Given the description of an element on the screen output the (x, y) to click on. 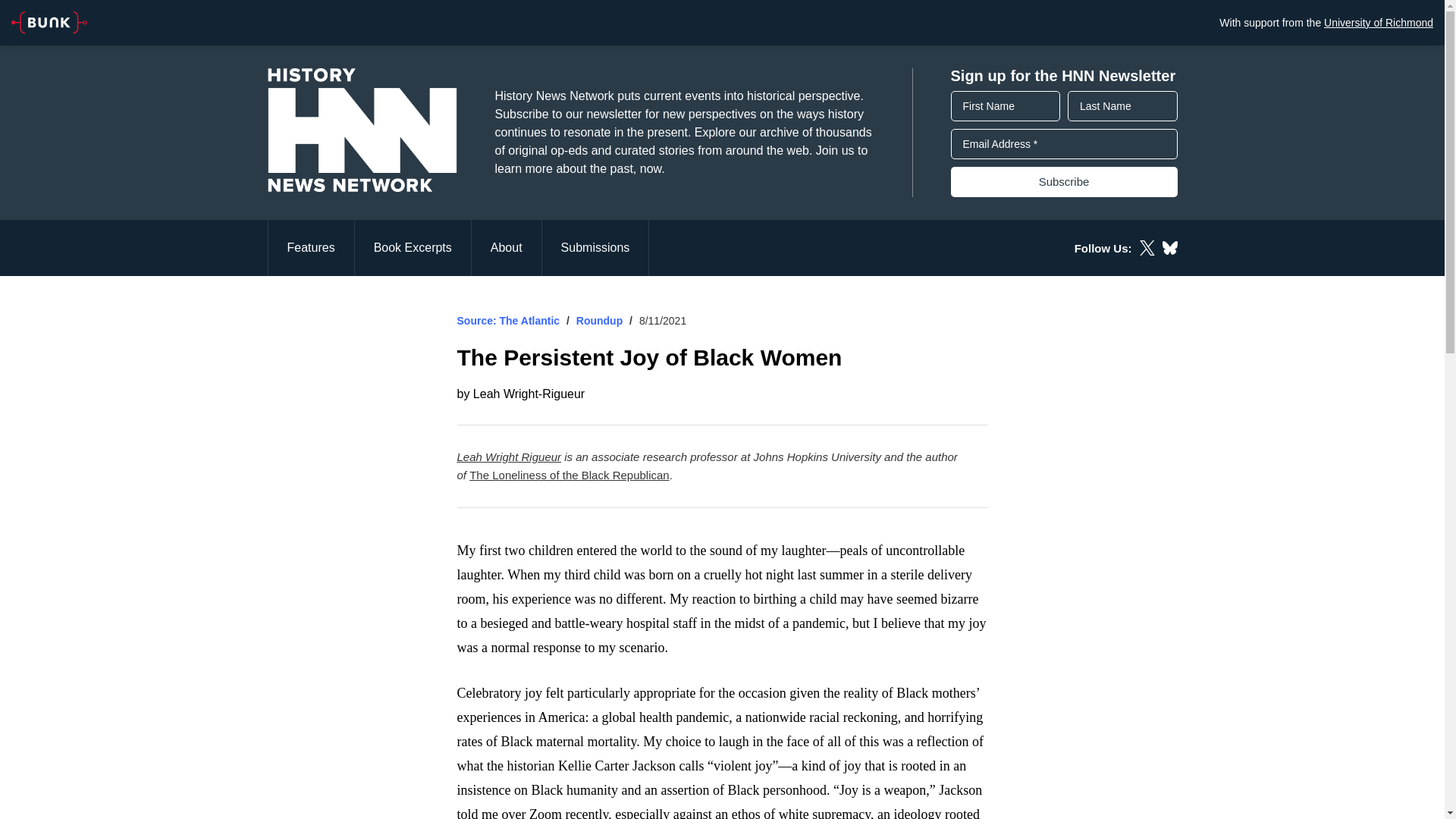
The Loneliness of the Black Republican (568, 474)
Source: The Atlantic (508, 320)
University of Richmond (1377, 22)
Submissions (595, 248)
Book Excerpts (413, 248)
Follow HNN on X, formerly Twitter (1146, 247)
Subscribe (1063, 182)
Roundup (599, 320)
Follow HNN on Bluesky (1168, 247)
Features (309, 248)
Leah Wright Rigueur (508, 456)
Subscribe (1063, 182)
About (506, 248)
